Given the description of an element on the screen output the (x, y) to click on. 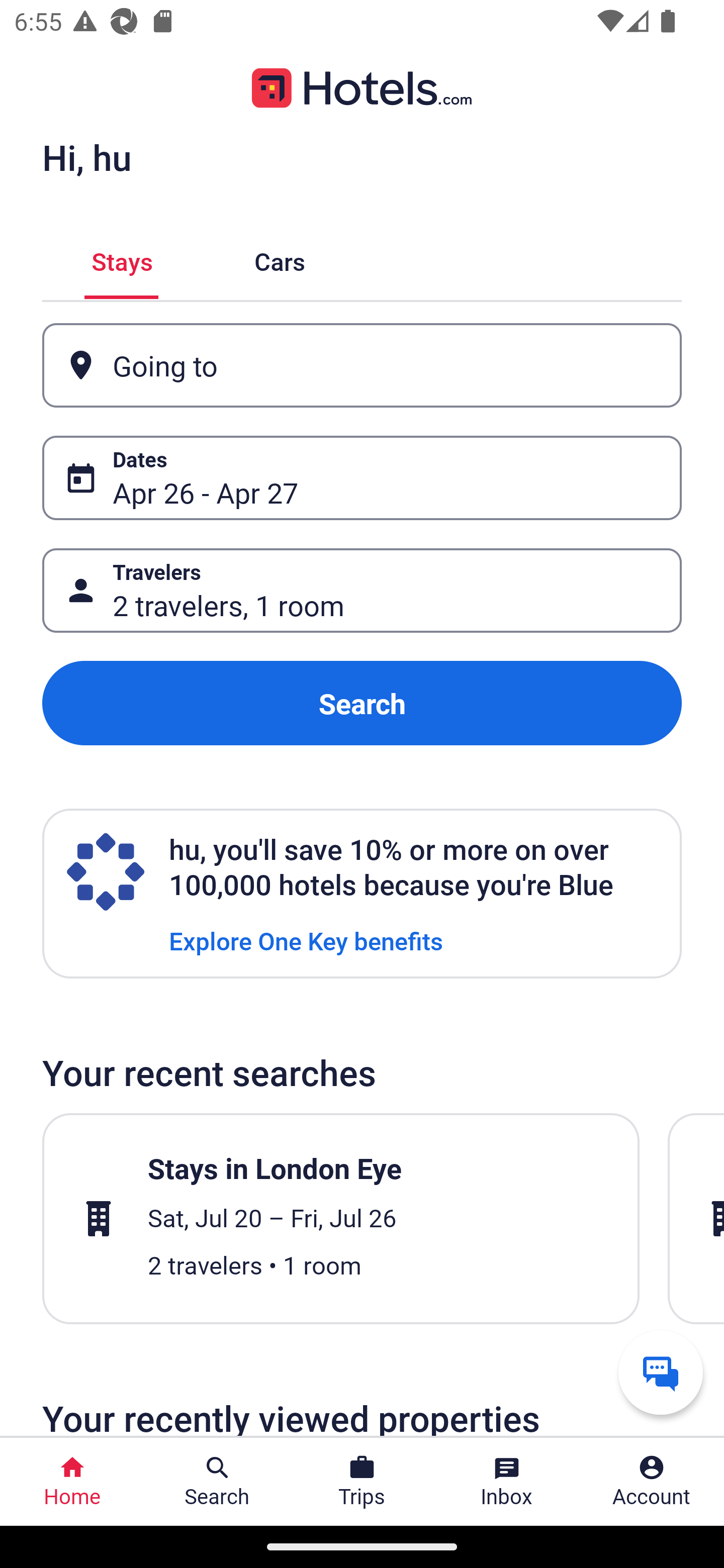
Hi, hu (86, 156)
Cars (279, 259)
Going to Button (361, 365)
Dates Button Apr 26 - Apr 27 (361, 477)
Travelers Button 2 travelers, 1 room (361, 590)
Search (361, 702)
Get help from a virtual agent (660, 1371)
Search Search Button (216, 1481)
Trips Trips Button (361, 1481)
Inbox Inbox Button (506, 1481)
Account Profile. Button (651, 1481)
